Given the description of an element on the screen output the (x, y) to click on. 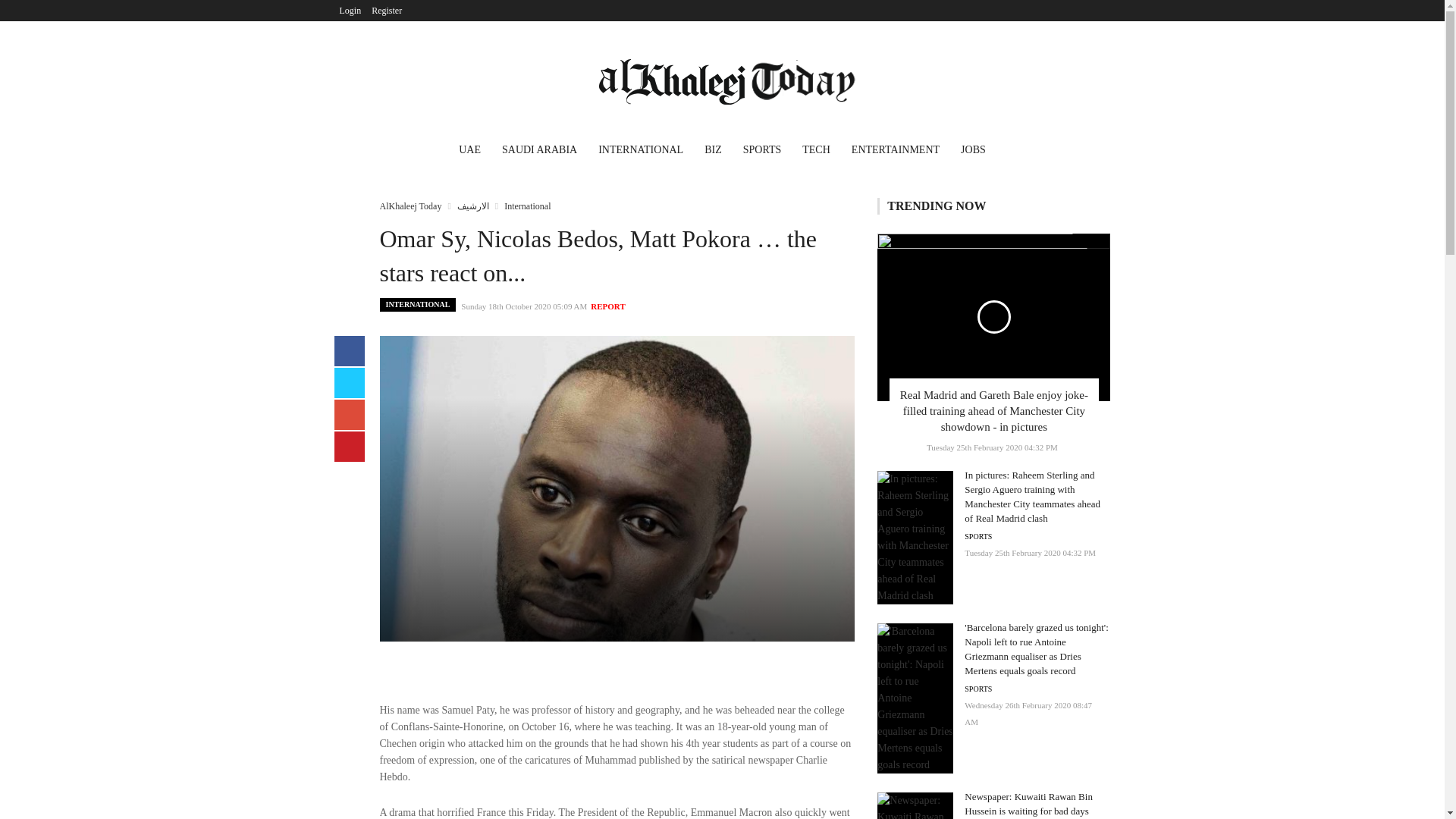
SPORTS (977, 536)
JOBS (972, 151)
SAUDI ARABIA (540, 151)
ENTERTAINMENT (895, 151)
INTERNATIONAL (416, 305)
INTERNATIONAL (641, 151)
TECH (816, 151)
International (526, 205)
SPORTS (977, 688)
